Given the description of an element on the screen output the (x, y) to click on. 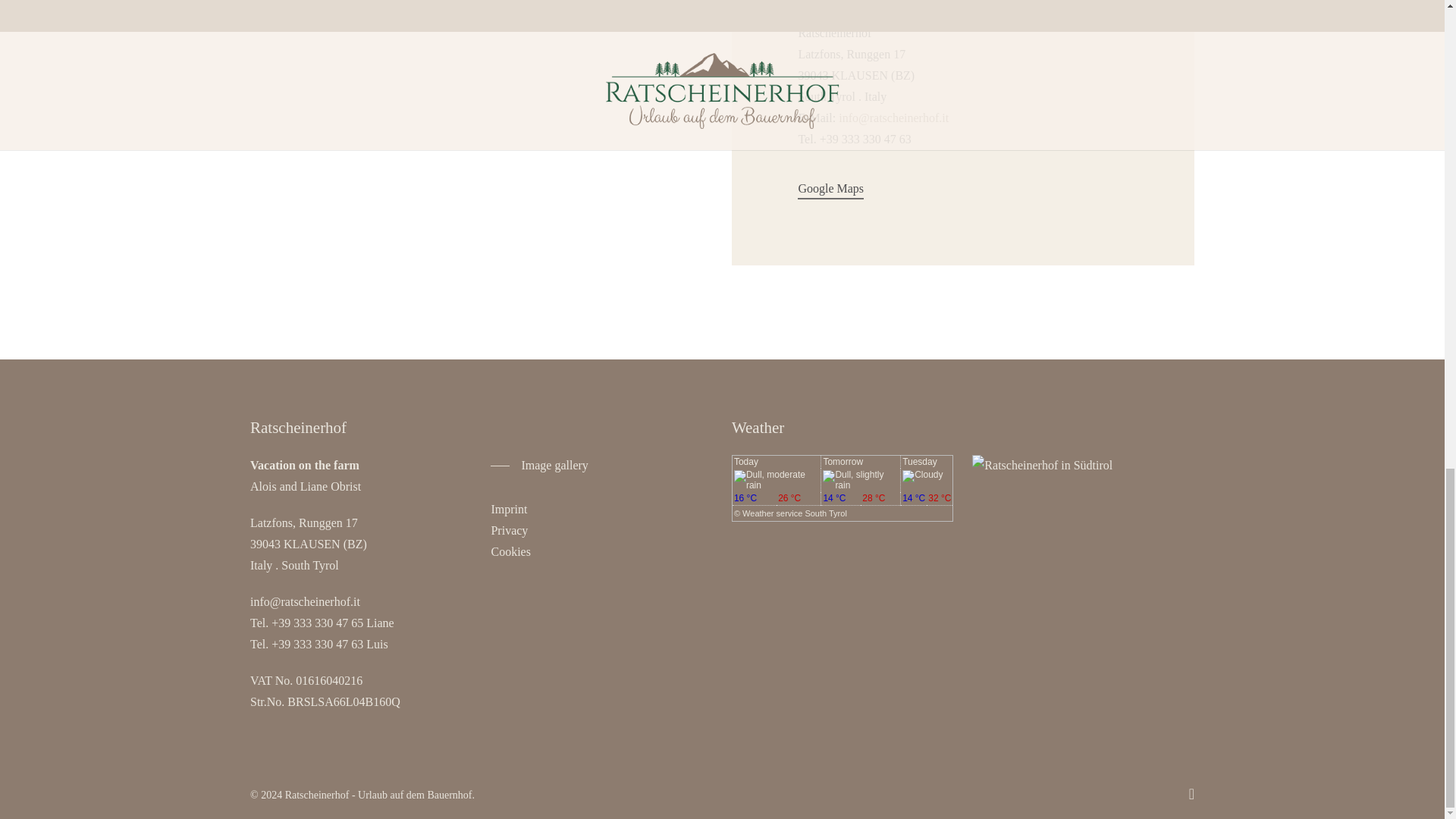
max (879, 499)
max (798, 499)
Cookies (509, 551)
Imprint (508, 508)
min (754, 499)
Google Maps (830, 188)
Image gallery (539, 465)
min (840, 499)
Privacy (508, 530)
max (939, 499)
